Given the description of an element on the screen output the (x, y) to click on. 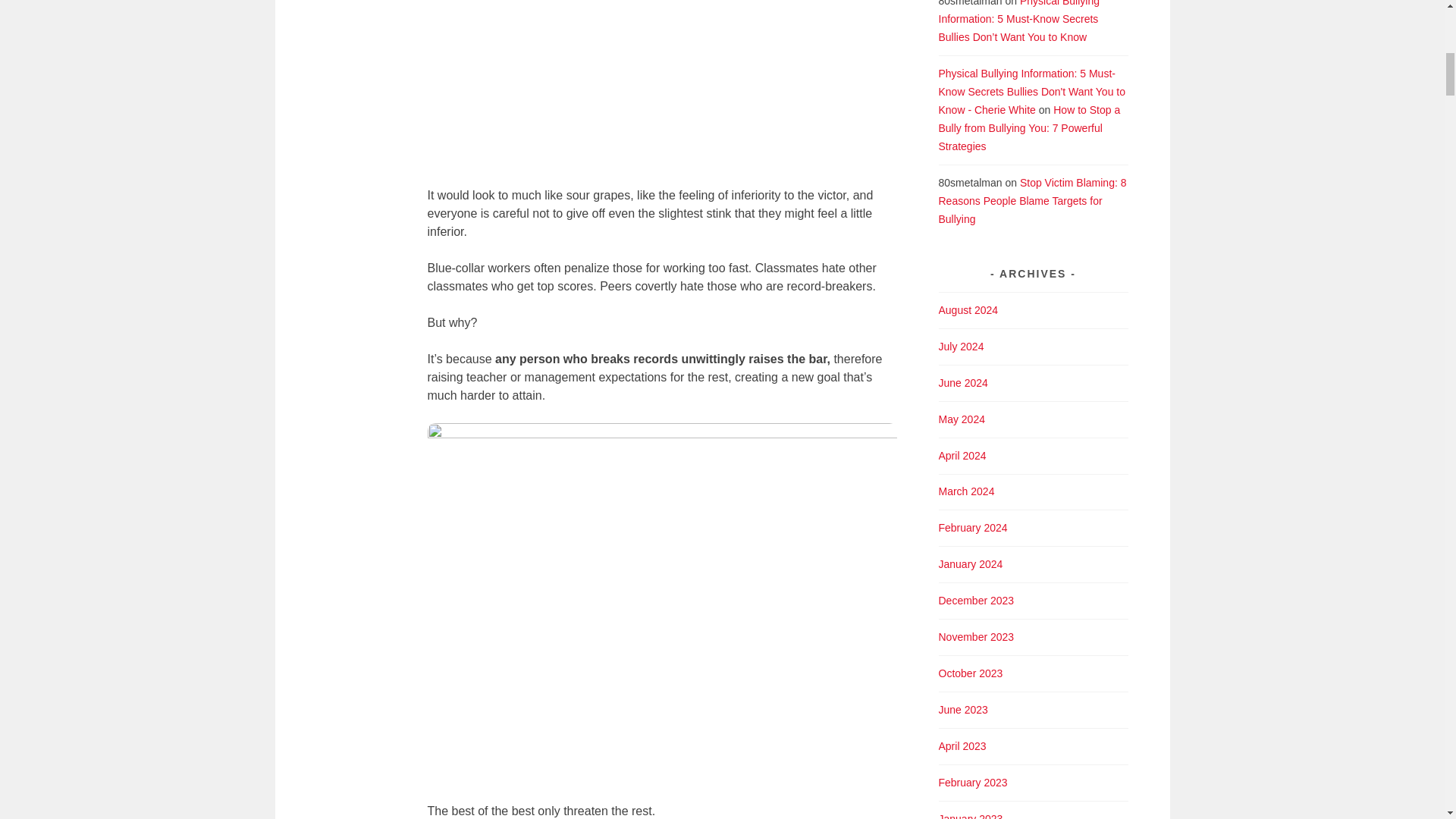
April 2024 (963, 455)
November 2023 (976, 636)
July 2024 (961, 346)
August 2024 (968, 309)
June 2024 (963, 382)
How to Stop a Bully from Bullying You: 7 Powerful Strategies (1030, 128)
February 2024 (973, 527)
May 2024 (962, 419)
